Given the description of an element on the screen output the (x, y) to click on. 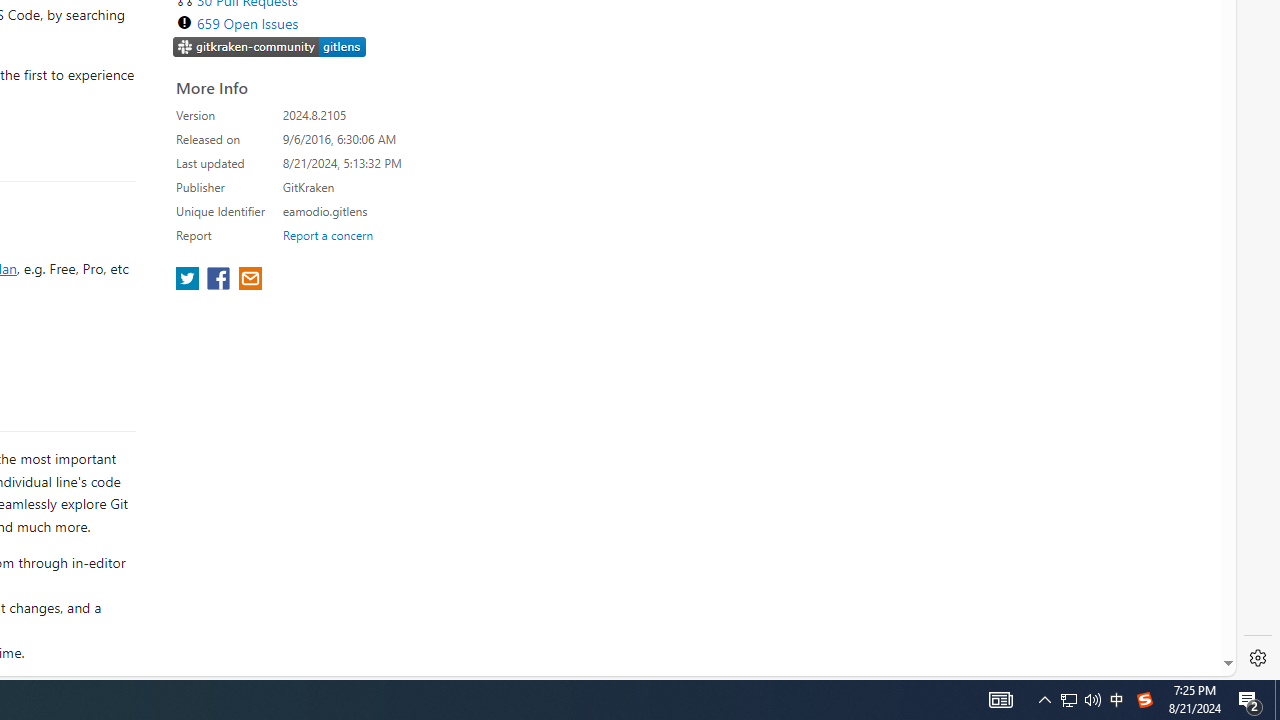
share extension on twitter (190, 280)
https://slack.gitkraken.com// (269, 48)
share extension on email (249, 280)
share extension on facebook (220, 280)
https://slack.gitkraken.com// (269, 46)
Report a concern (327, 234)
